Given the description of an element on the screen output the (x, y) to click on. 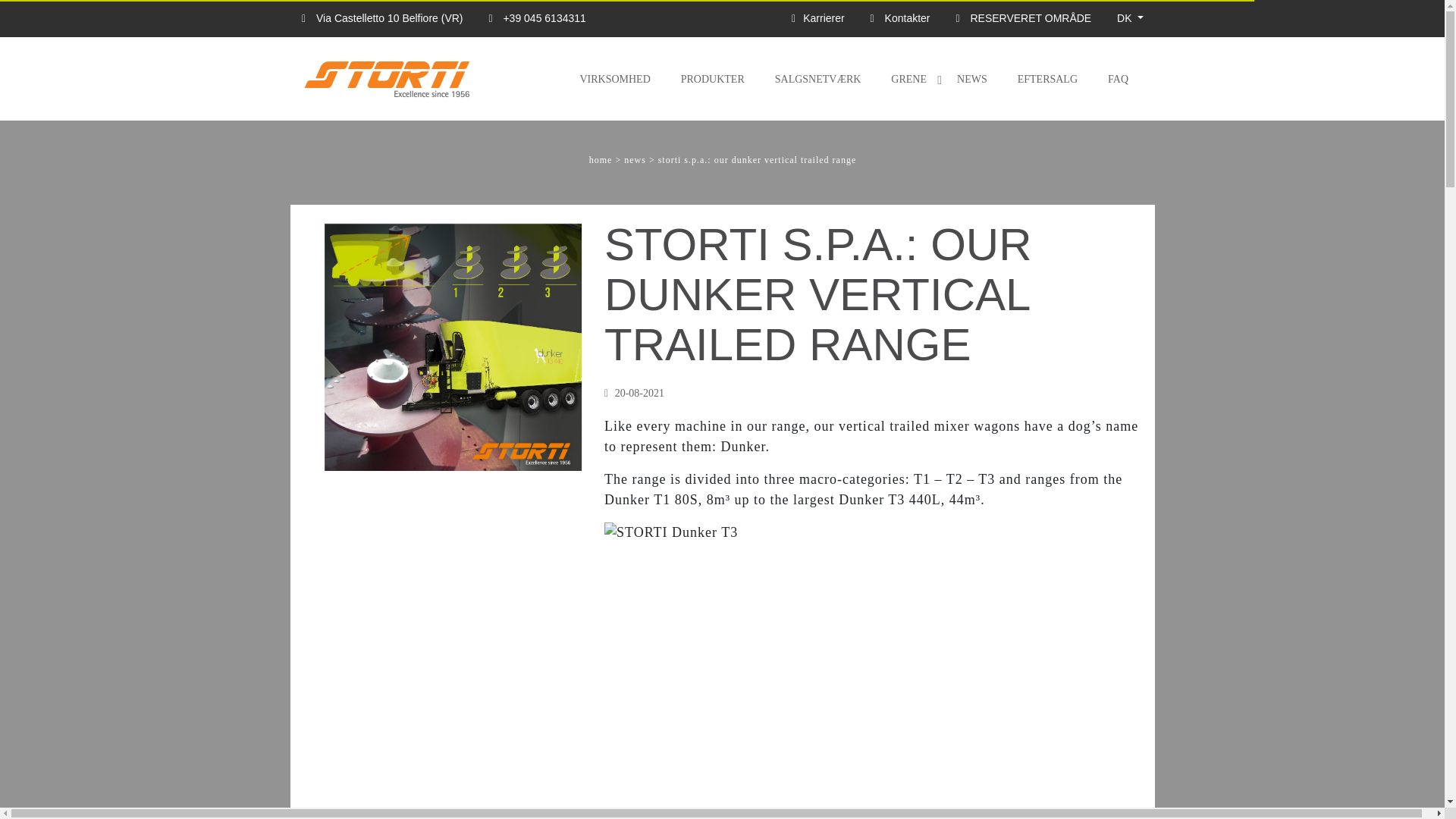
home (599, 159)
Kontakter (815, 21)
DK (935, 21)
Karrierer (777, 21)
news (635, 159)
